Given the description of an element on the screen output the (x, y) to click on. 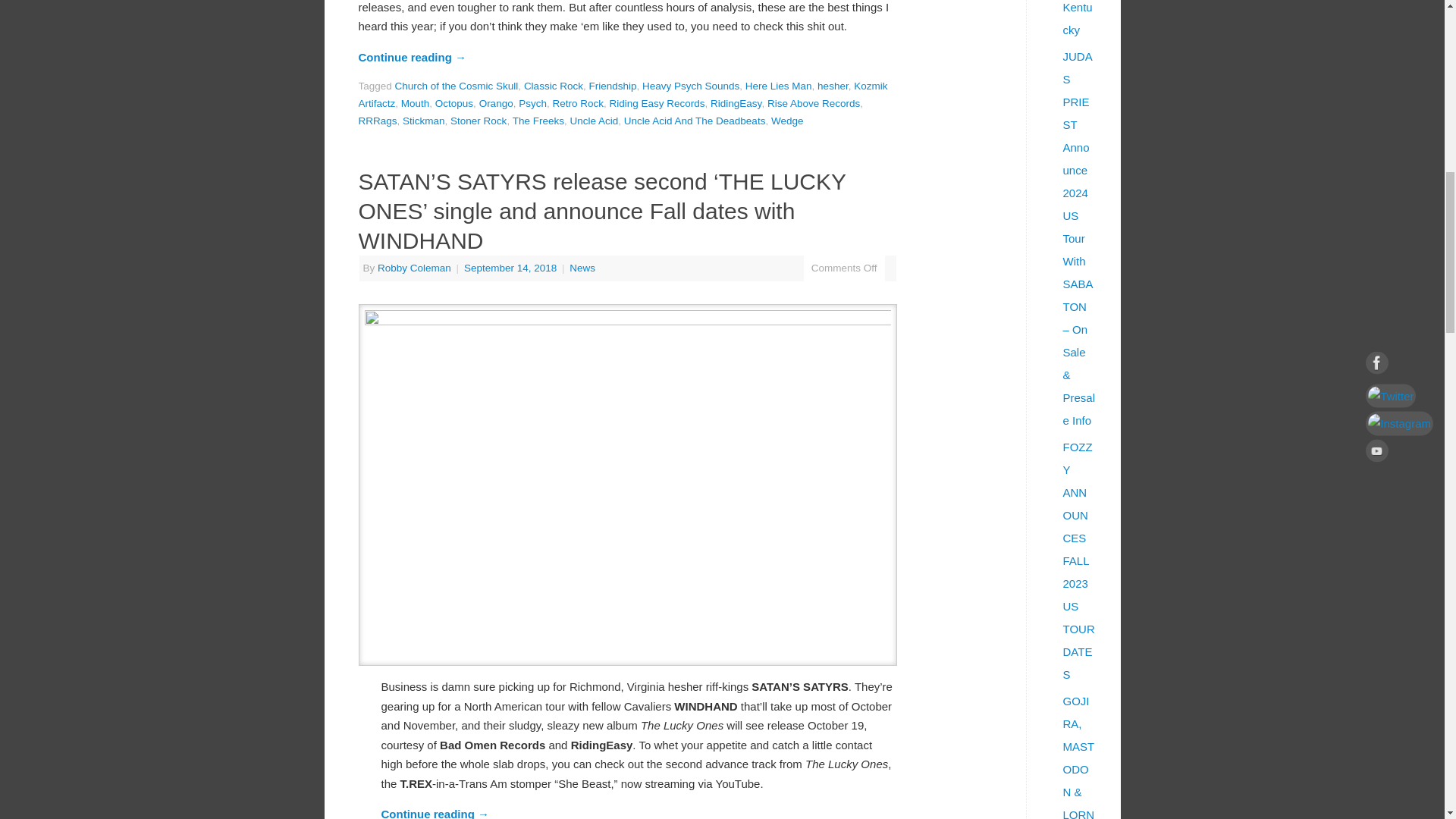
RRRags (377, 120)
View all posts by Robby Coleman (414, 267)
Octopus (454, 102)
Here Lies Man (778, 85)
Retro Rock (577, 102)
Friendship (612, 85)
Kozmik Artifactz (622, 94)
RidingEasy (735, 102)
Psych (532, 102)
12:09 am (511, 267)
Church of the Cosmic Skull (456, 85)
hesher (832, 85)
Classic Rock (553, 85)
Heavy Psych Sounds (690, 85)
Stoner Rock (477, 120)
